Given the description of an element on the screen output the (x, y) to click on. 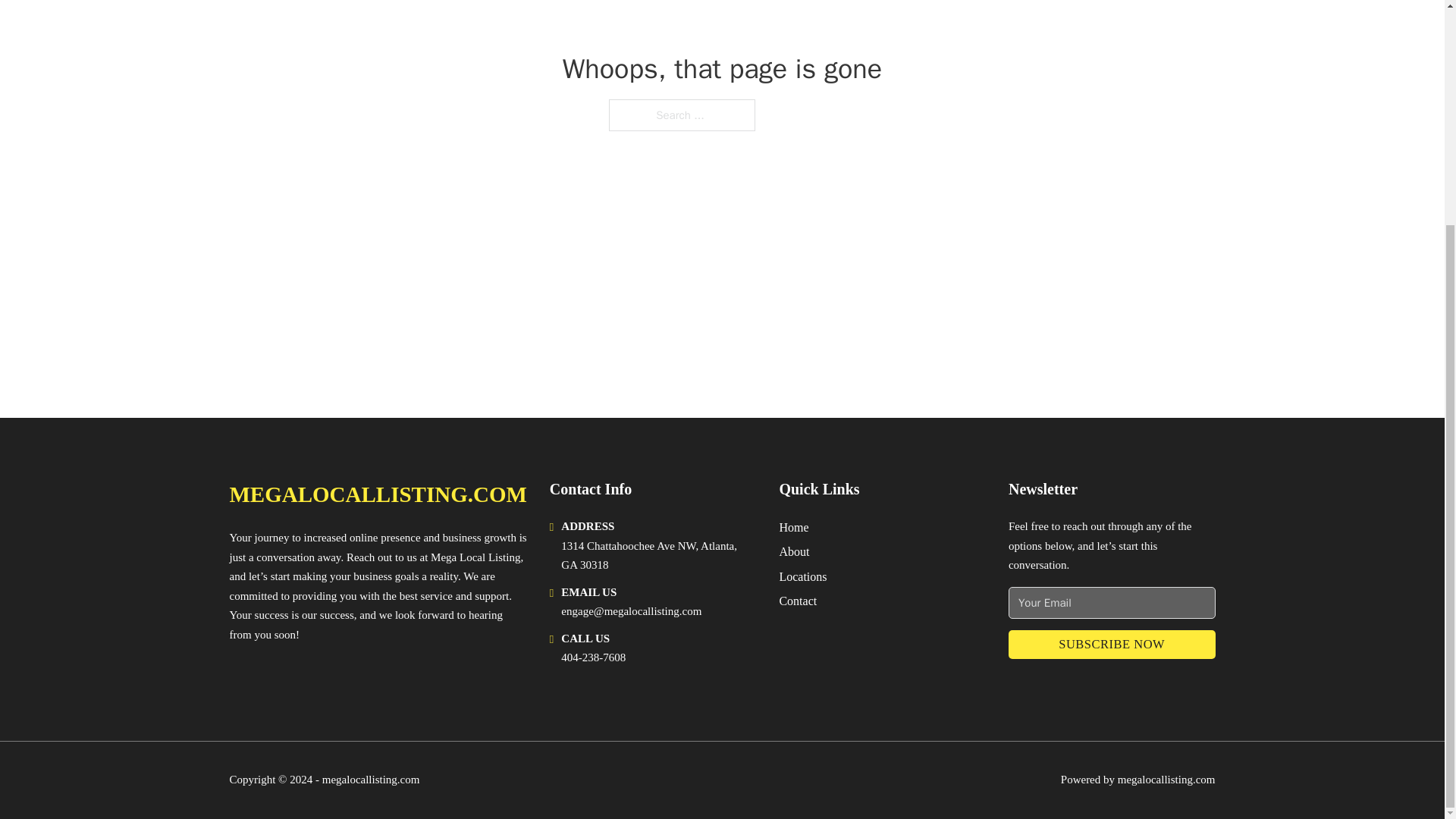
MEGALOCALLISTING.COM (376, 494)
Home (793, 526)
Contact (797, 600)
SUBSCRIBE NOW (1112, 644)
Locations (802, 576)
About (793, 551)
404-238-7608 (593, 657)
